Given the description of an element on the screen output the (x, y) to click on. 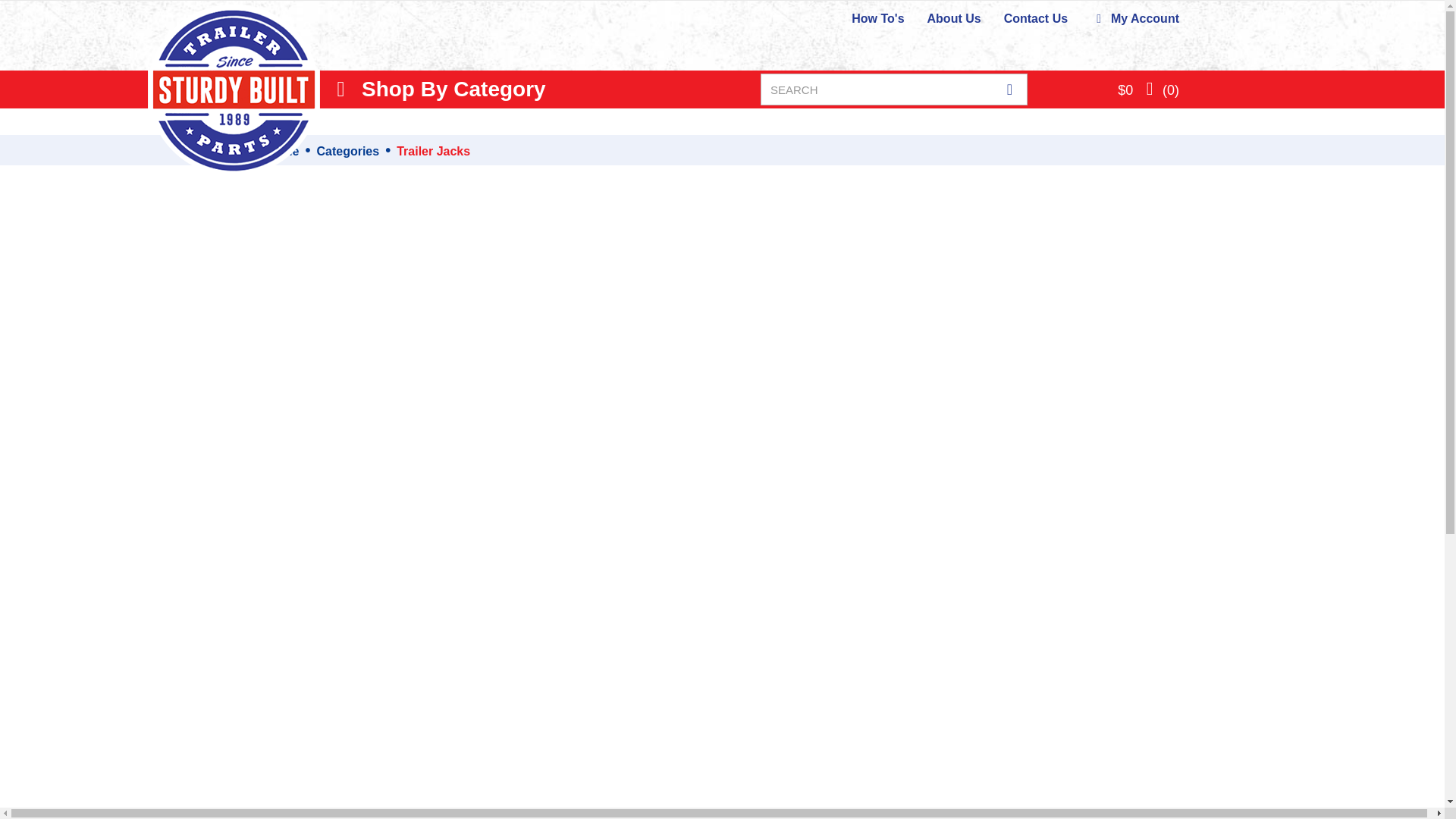
Categories (346, 151)
How To's (877, 18)
Trailer Jacks (433, 151)
My Account (1134, 18)
Contact Us (1035, 18)
Shop By Category (437, 89)
About Us (954, 18)
Home (281, 151)
